Given the description of an element on the screen output the (x, y) to click on. 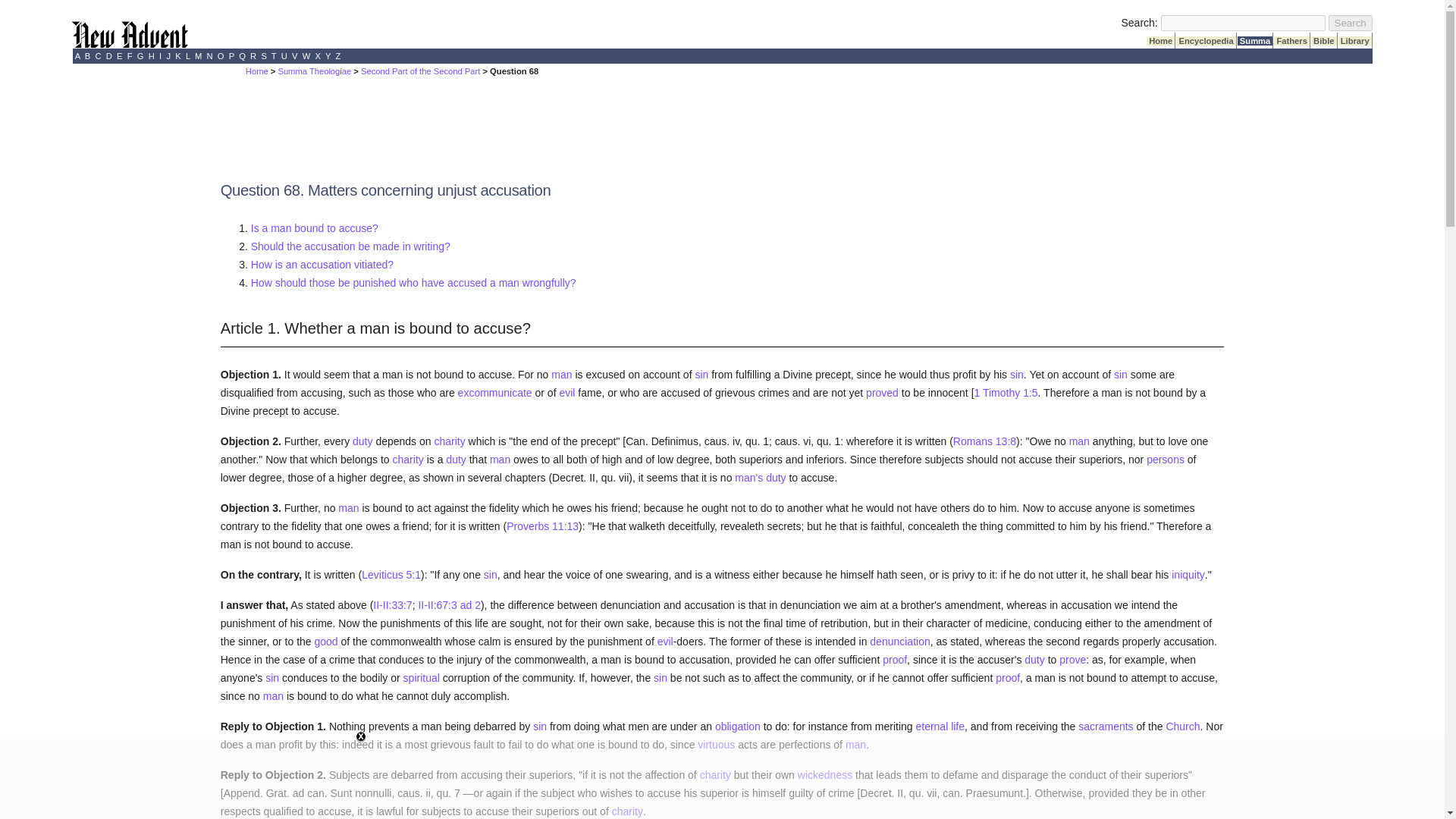
 Encyclopedia  (1205, 40)
 O  (221, 55)
Second Part of the Second Part (420, 71)
 Fathers  (1291, 40)
 C  (98, 55)
 J  (168, 55)
 Library  (1354, 40)
 S  (264, 55)
 Y  (328, 55)
 H  (152, 55)
